Given the description of an element on the screen output the (x, y) to click on. 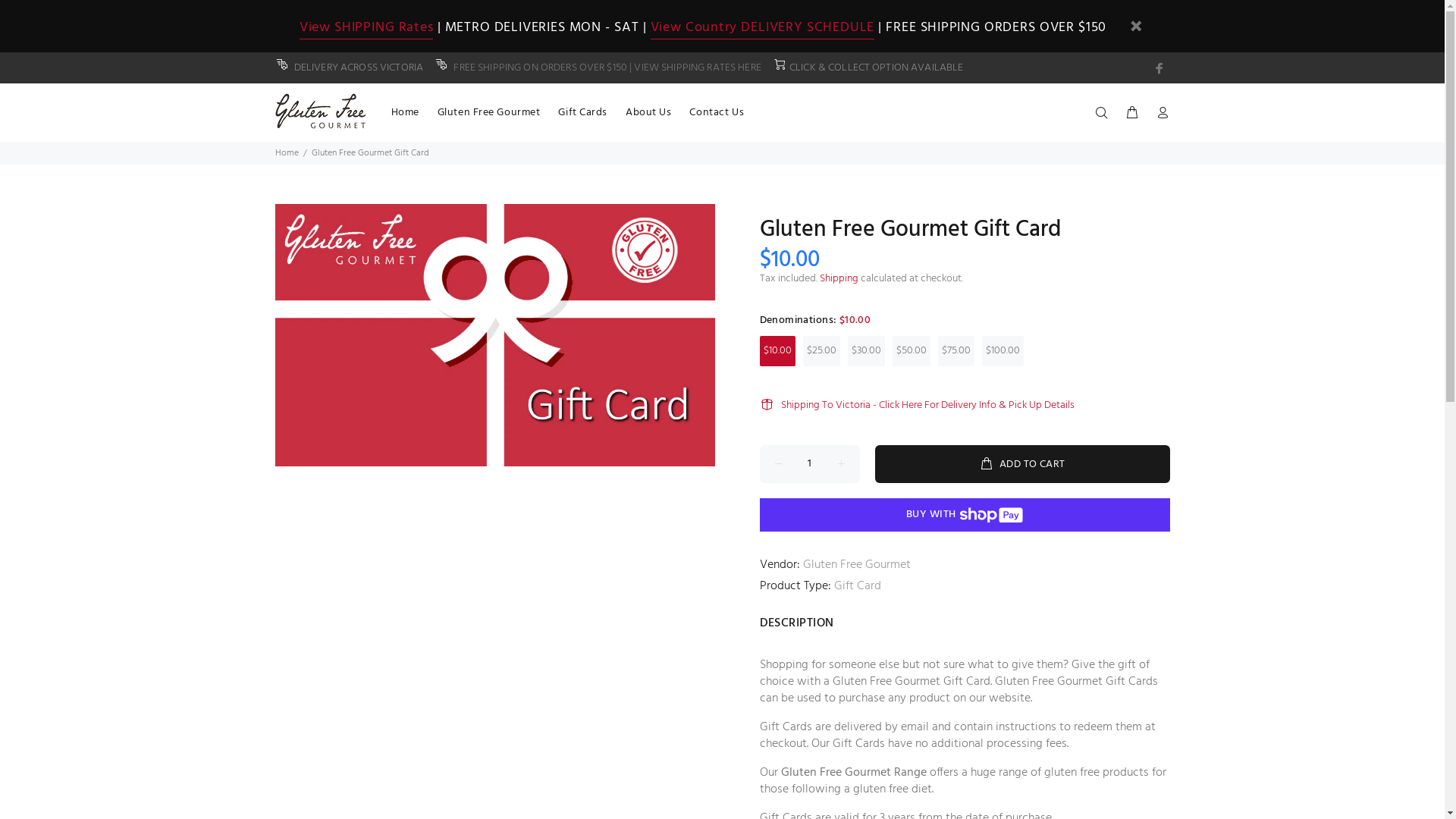
$25.00 Element type: text (820, 350)
About Us Element type: text (648, 112)
Home Element type: text (405, 112)
$10.00 Element type: text (777, 350)
Home Element type: text (286, 152)
Shipping Element type: text (838, 278)
Gift Card Element type: text (857, 586)
$30.00 Element type: text (865, 350)
FREE SHIPPING ON ORDERS OVER $150 | VIEW SHIPPING RATES HERE Element type: text (606, 67)
Contact Us Element type: text (711, 112)
View Country DELIVERY SCHEDULE Element type: text (762, 27)
ADD TO CART Element type: text (1022, 464)
$100.00 Element type: text (1001, 350)
Gluten Free Gourmet Element type: text (856, 564)
Gift Cards Element type: text (582, 112)
View SHIPPING Rates Element type: text (366, 27)
Gluten Free Gourmet Element type: text (488, 112)
$75.00 Element type: text (955, 350)
$50.00 Element type: text (910, 350)
